Given the description of an element on the screen output the (x, y) to click on. 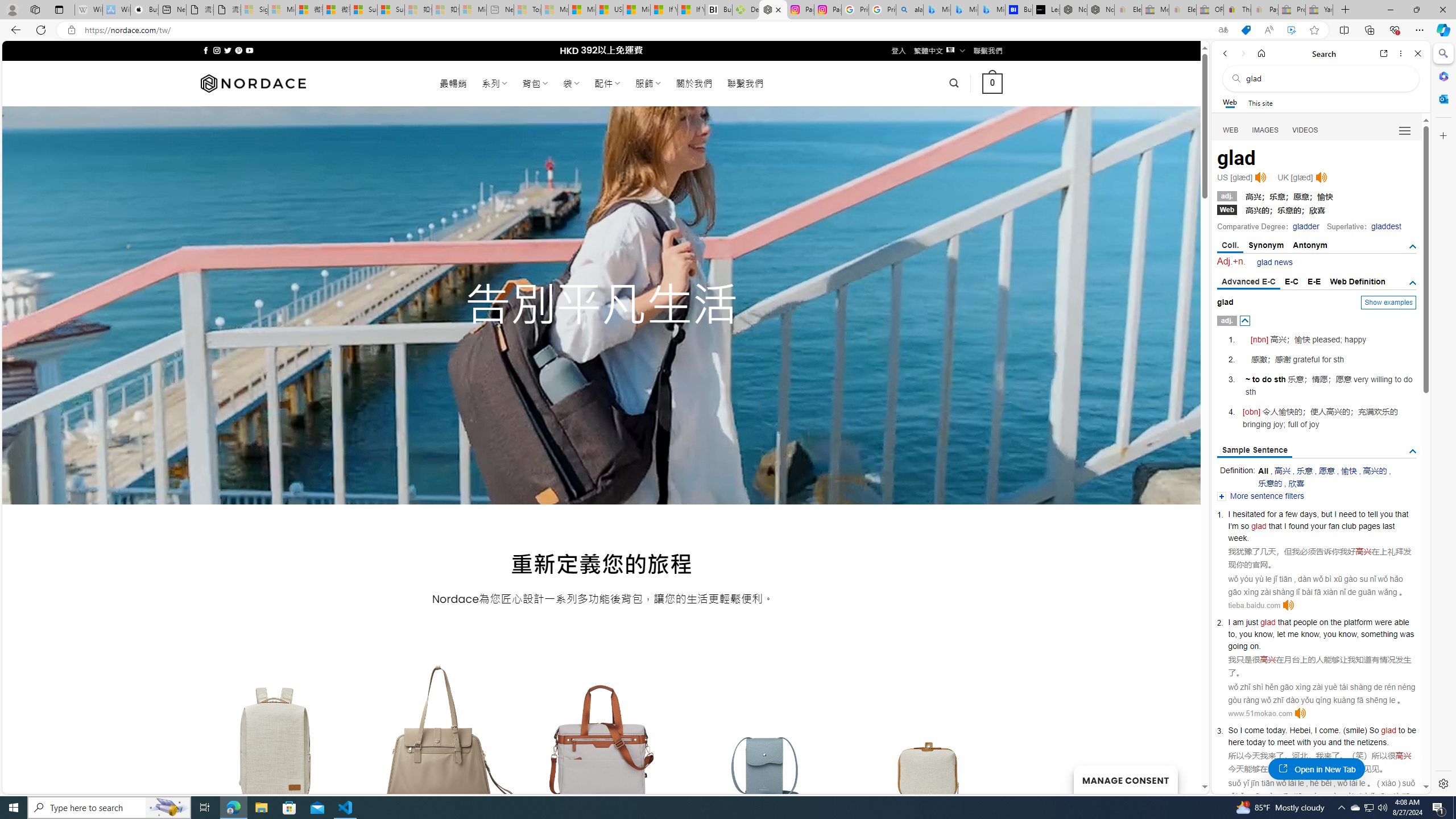
Synonym (1265, 245)
me (1292, 633)
Follow on Twitter (227, 50)
smile (1354, 729)
people (1304, 621)
